Given the description of an element on the screen output the (x, y) to click on. 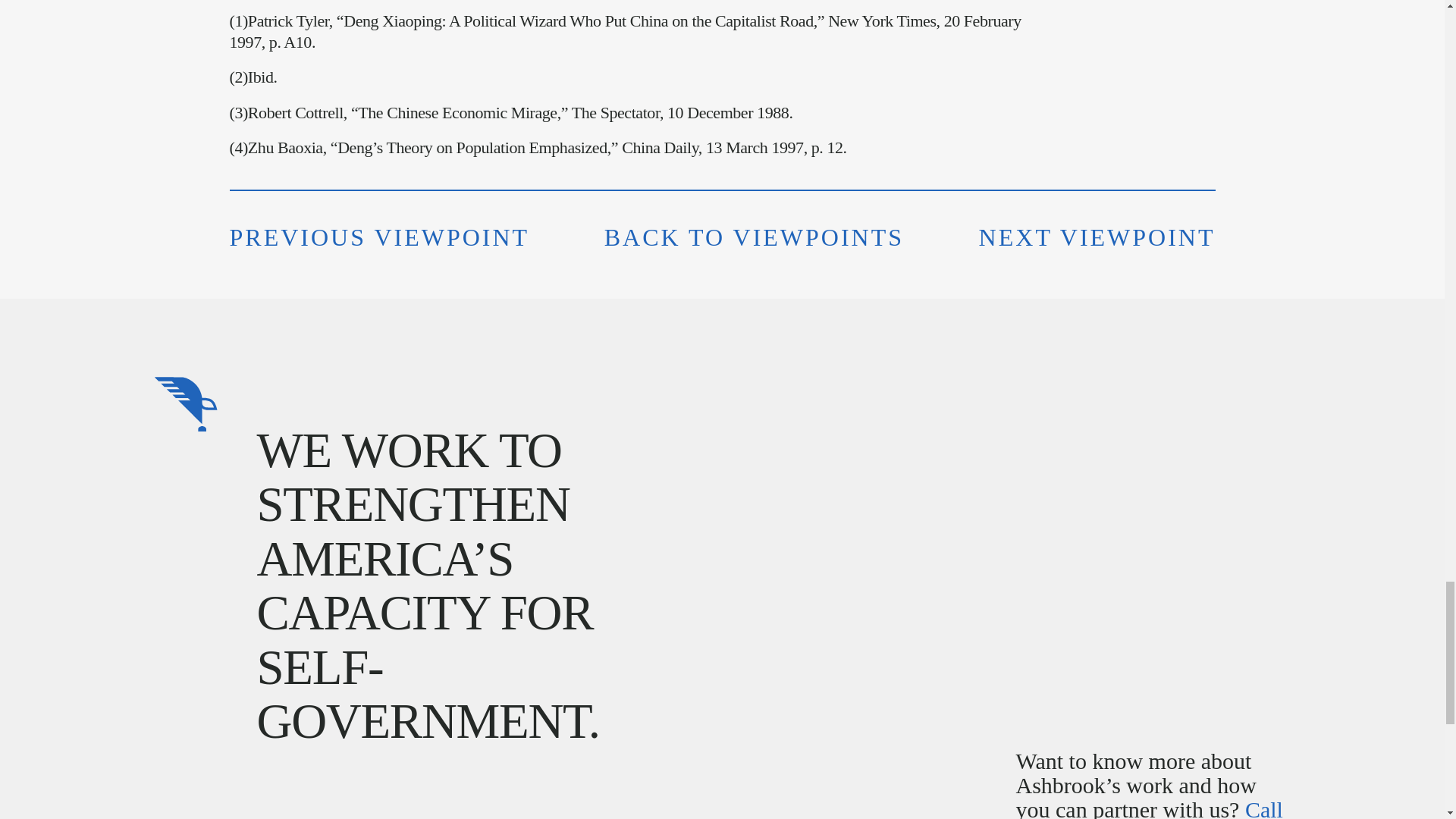
PREVIOUS VIEWPOINT (378, 236)
BACK TO VIEWPOINTS (754, 236)
Call us (1149, 807)
NEXT VIEWPOINT (1096, 236)
